Given the description of an element on the screen output the (x, y) to click on. 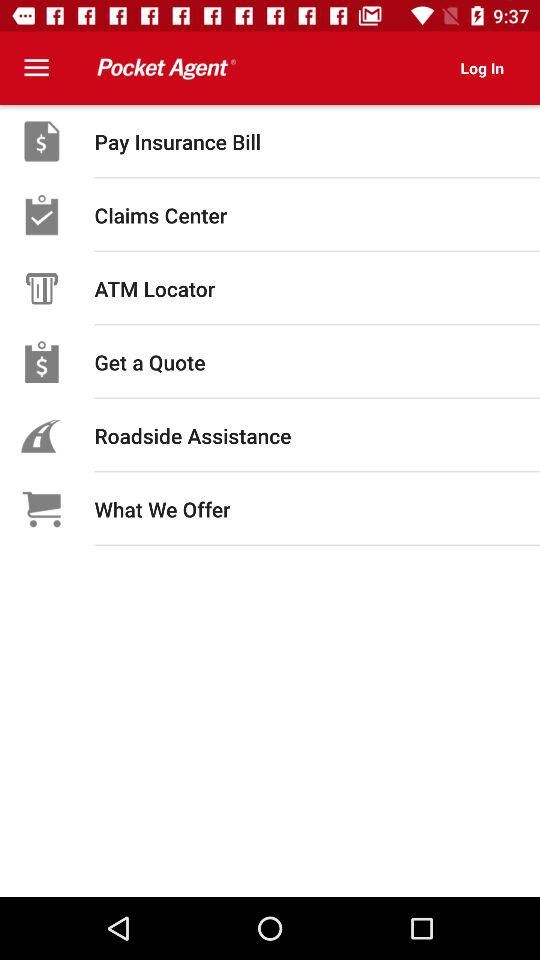
press the item above pay insurance bill item (482, 68)
